Given the description of an element on the screen output the (x, y) to click on. 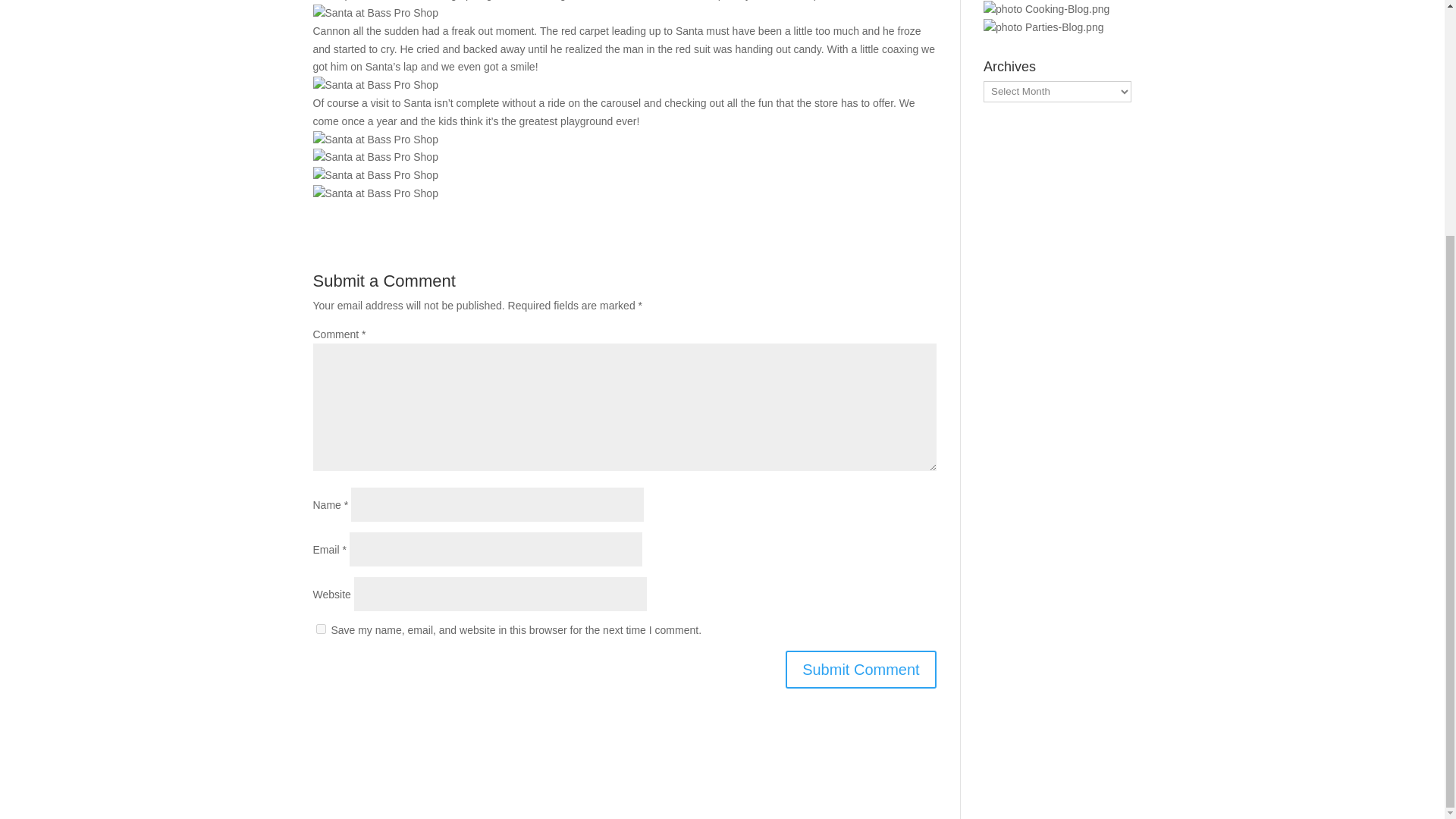
Submit Comment (861, 669)
Submit Comment (861, 669)
yes (319, 628)
